Given the description of an element on the screen output the (x, y) to click on. 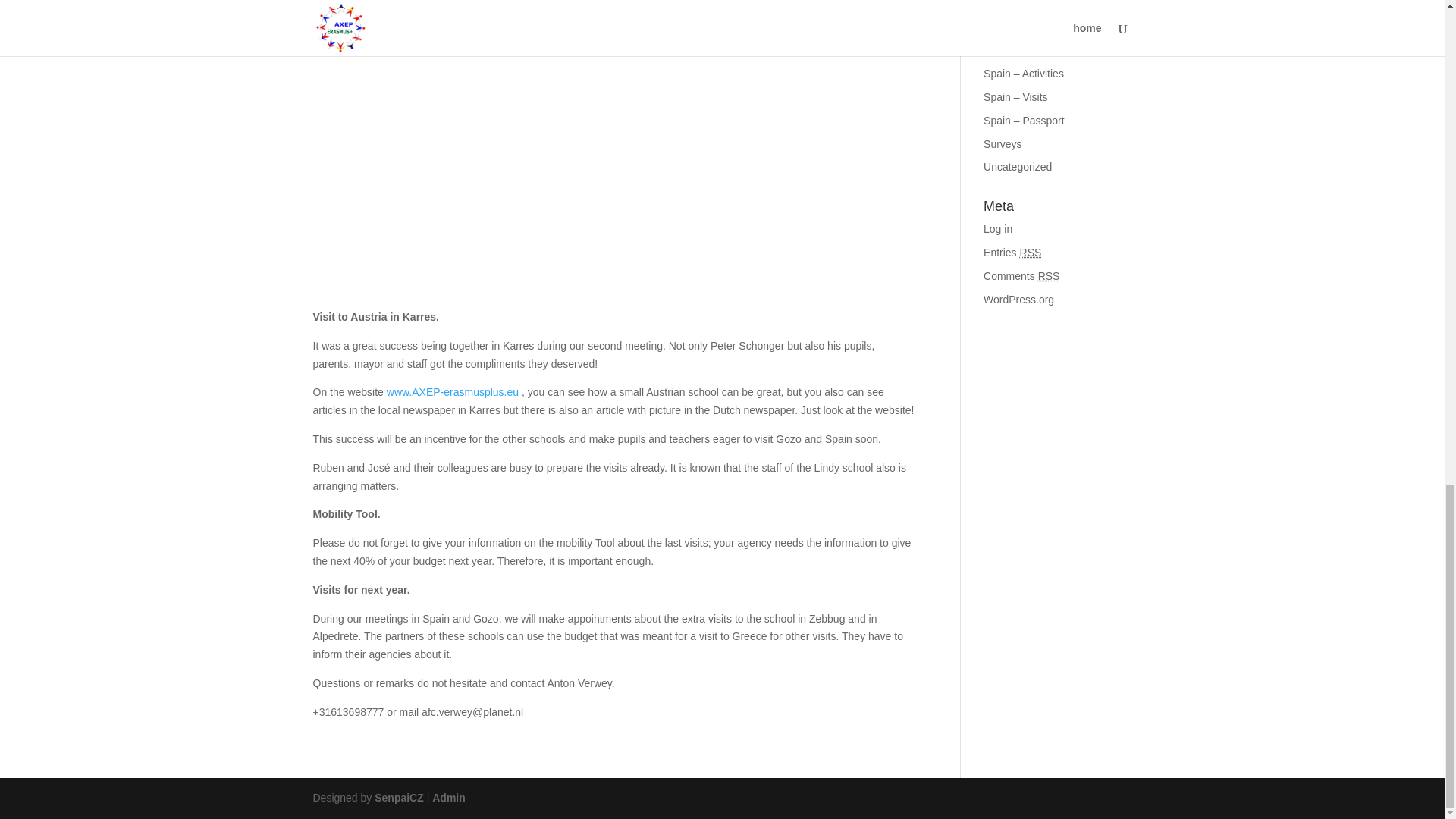
Really Simple Syndication (1031, 252)
Really Simple Syndication (1048, 275)
www.AXEP-erasmusplus.eu (452, 391)
